Given the description of an element on the screen output the (x, y) to click on. 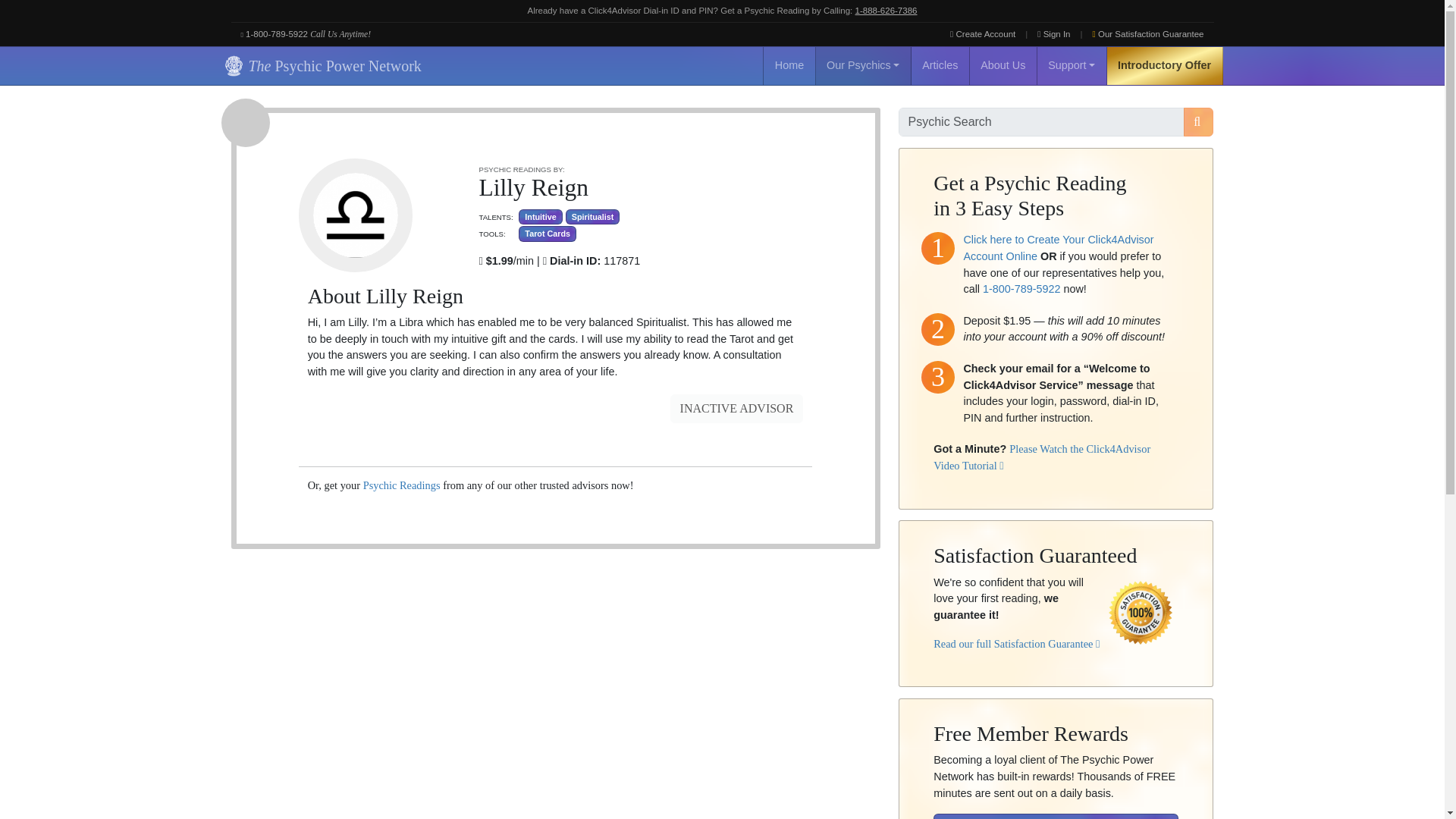
Sign In (1053, 33)
Articles (940, 65)
Introductory Offer (1164, 65)
Home (788, 65)
The Psychic Power Network (320, 65)
Spiritualist (593, 216)
Read our full Satisfaction Guarantee  (1016, 644)
Click here to Create Your Click4Advisor Account Online (1057, 247)
Create Account (982, 33)
Our Satisfaction Guarantee (1148, 33)
Our Psychics (863, 65)
Support (1071, 65)
Intuitive (540, 216)
Home (788, 65)
Psychic Readings (401, 485)
